Given the description of an element on the screen output the (x, y) to click on. 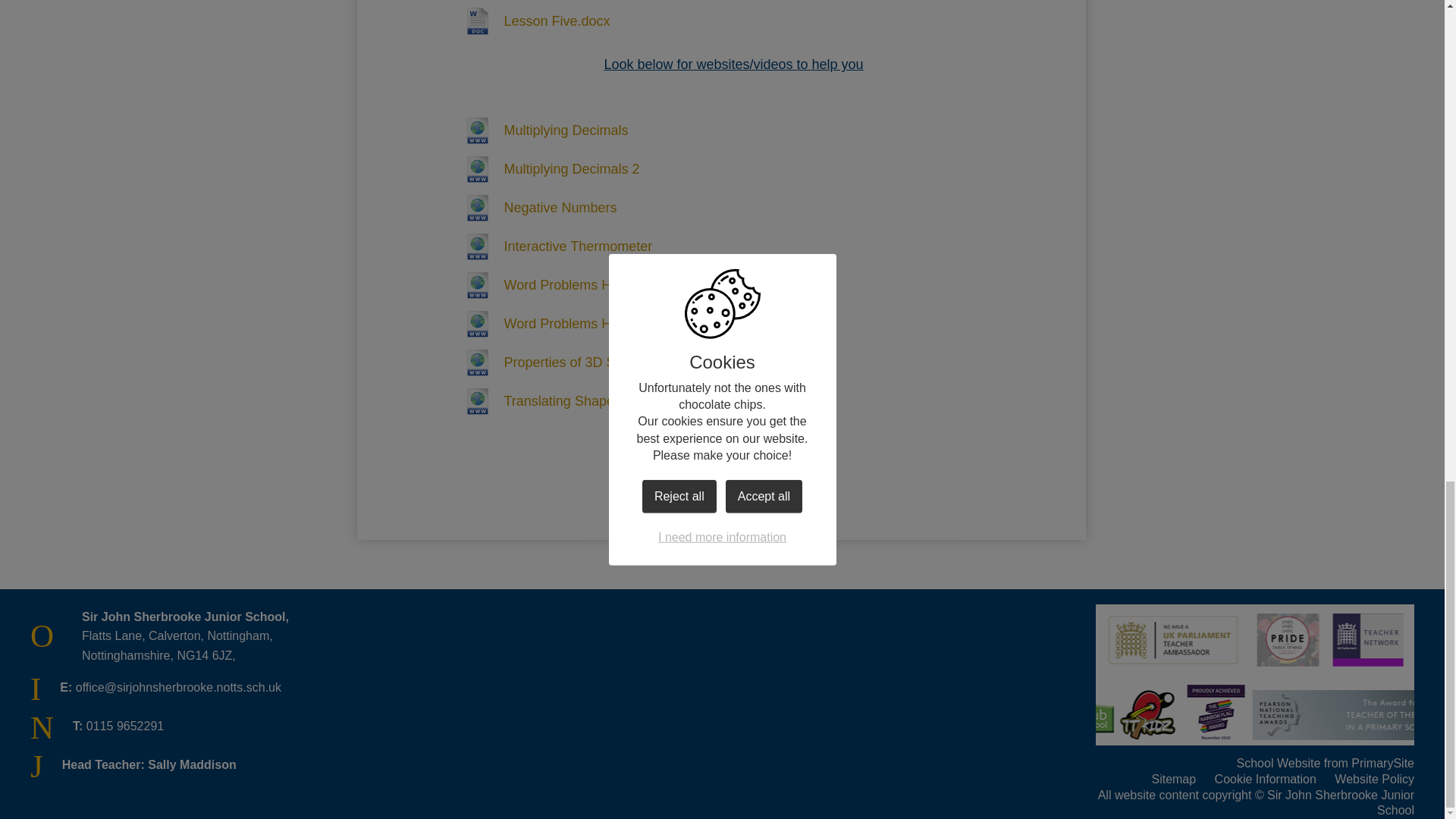
Multiplying Decimals (541, 130)
Lesson Five.docx (532, 21)
Word Problems Help for Parents (577, 284)
Translating Shapes (537, 401)
Negative Numbers (535, 207)
Properties of 3D Shapes (553, 362)
Multiplying Decimals 2 (547, 168)
Interactive Thermometer (553, 246)
Word Problems Help for Children (579, 323)
